Given the description of an element on the screen output the (x, y) to click on. 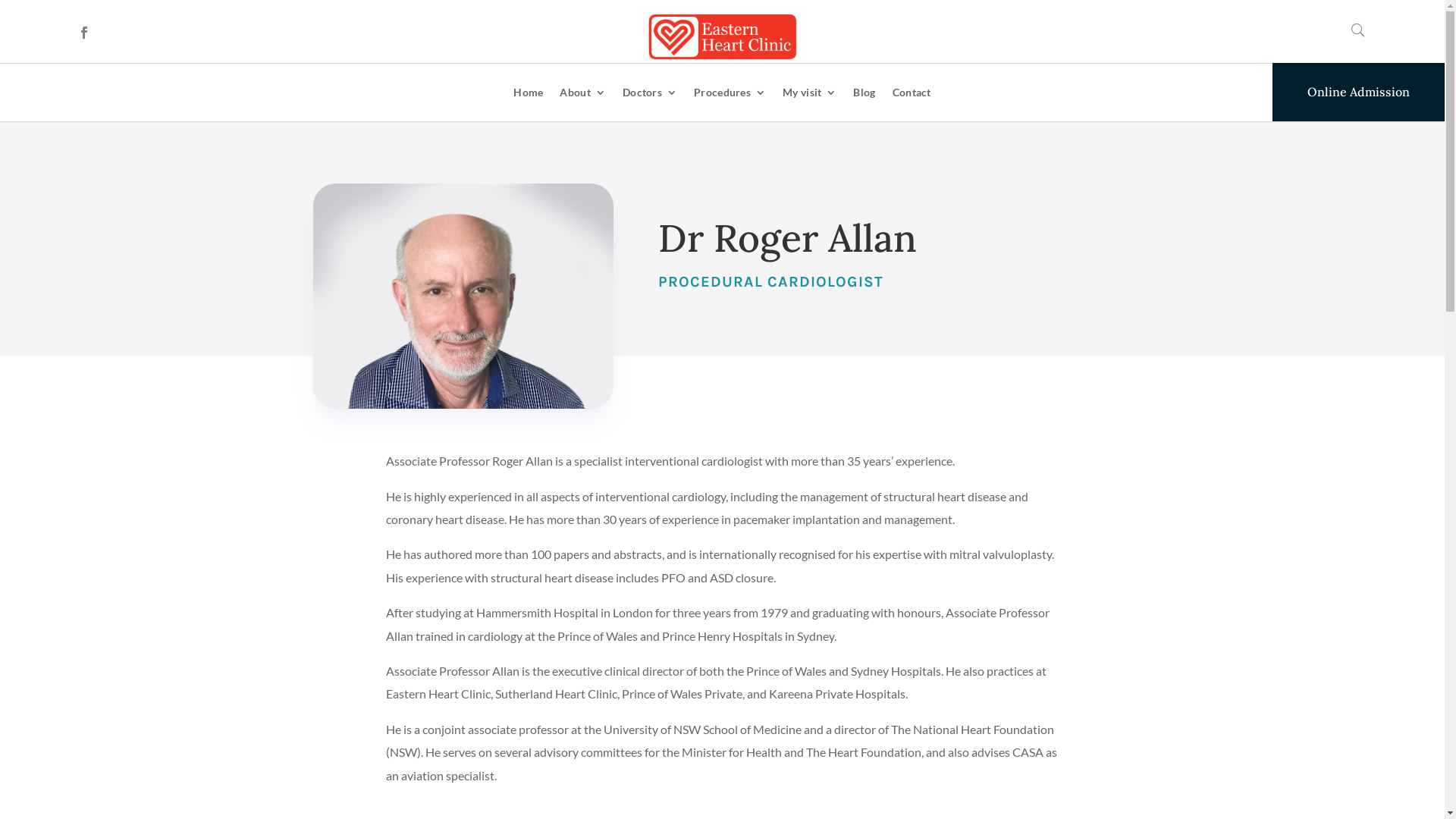
Home Element type: text (527, 92)
Contact Element type: text (911, 92)
About Element type: text (582, 92)
Procedures Element type: text (729, 92)
Online Admission Element type: text (1358, 91)
My visit Element type: text (809, 92)
Doctors Element type: text (649, 92)
Blog Element type: text (864, 92)
Follow on Facebook Element type: hover (84, 32)
